Given the description of an element on the screen output the (x, y) to click on. 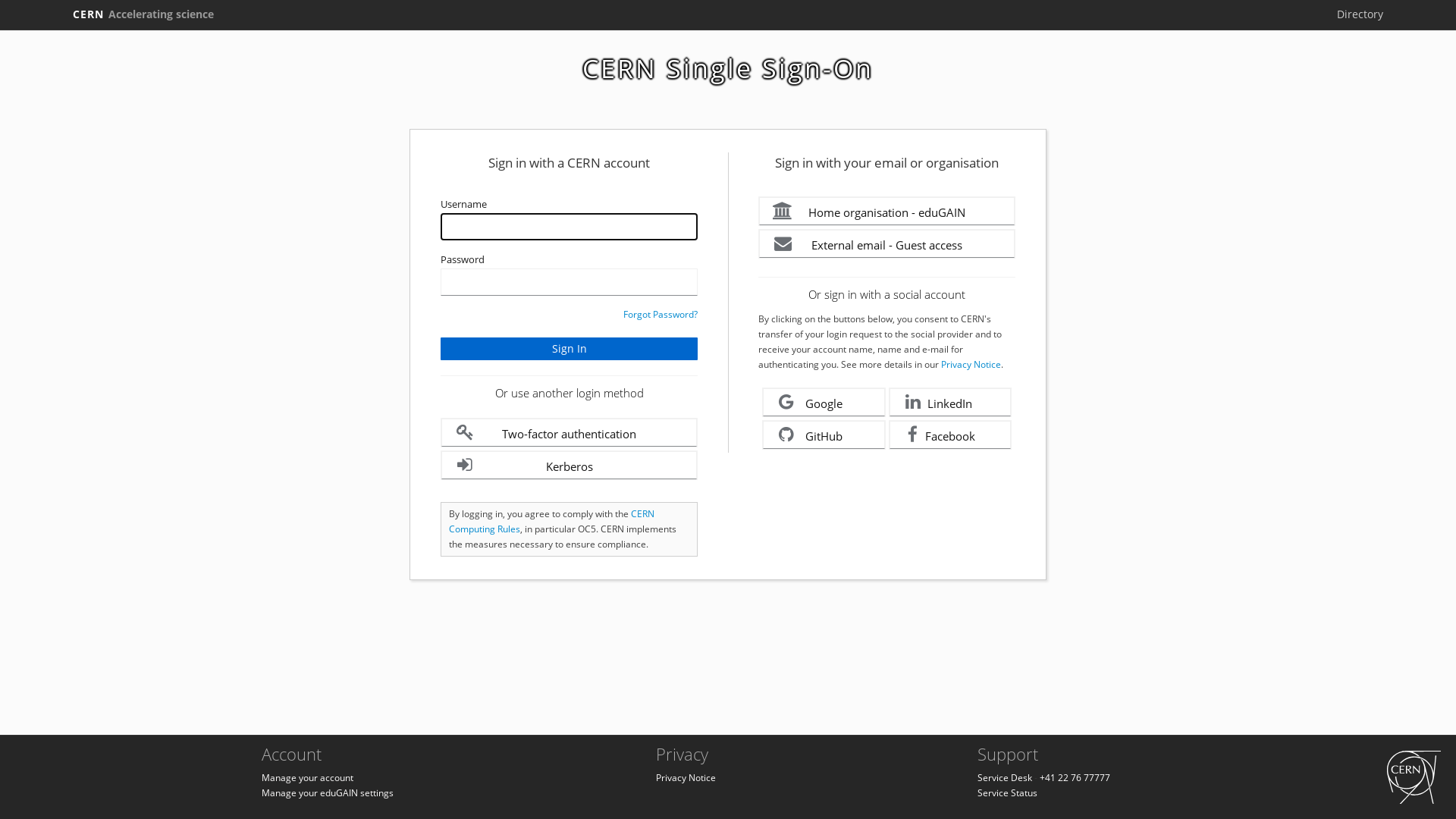
Directory Element type: text (1359, 14)
Service Status Element type: text (1007, 792)
Privacy Notice Element type: text (685, 777)
CERN Accelerating science Element type: text (142, 14)
Manage your account Element type: text (307, 777)
Facebook Element type: text (950, 434)
LinkedIn Element type: text (950, 402)
Service Desk Element type: text (1004, 777)
Privacy Notice Element type: text (971, 363)
Two-factor authentication Element type: text (568, 432)
Home organisation - eduGAIN Element type: text (886, 210)
Kerberos Element type: text (568, 465)
Manage your eduGAIN settings Element type: text (327, 792)
GitHub Element type: text (823, 434)
Sign In Element type: text (568, 348)
Forgot Password? Element type: text (660, 313)
CERN Computing Rules Element type: text (551, 521)
+41 22 76 77777 Element type: text (1074, 777)
Google Element type: text (823, 402)
External email - Guest access Element type: text (886, 243)
